Given the description of an element on the screen output the (x, y) to click on. 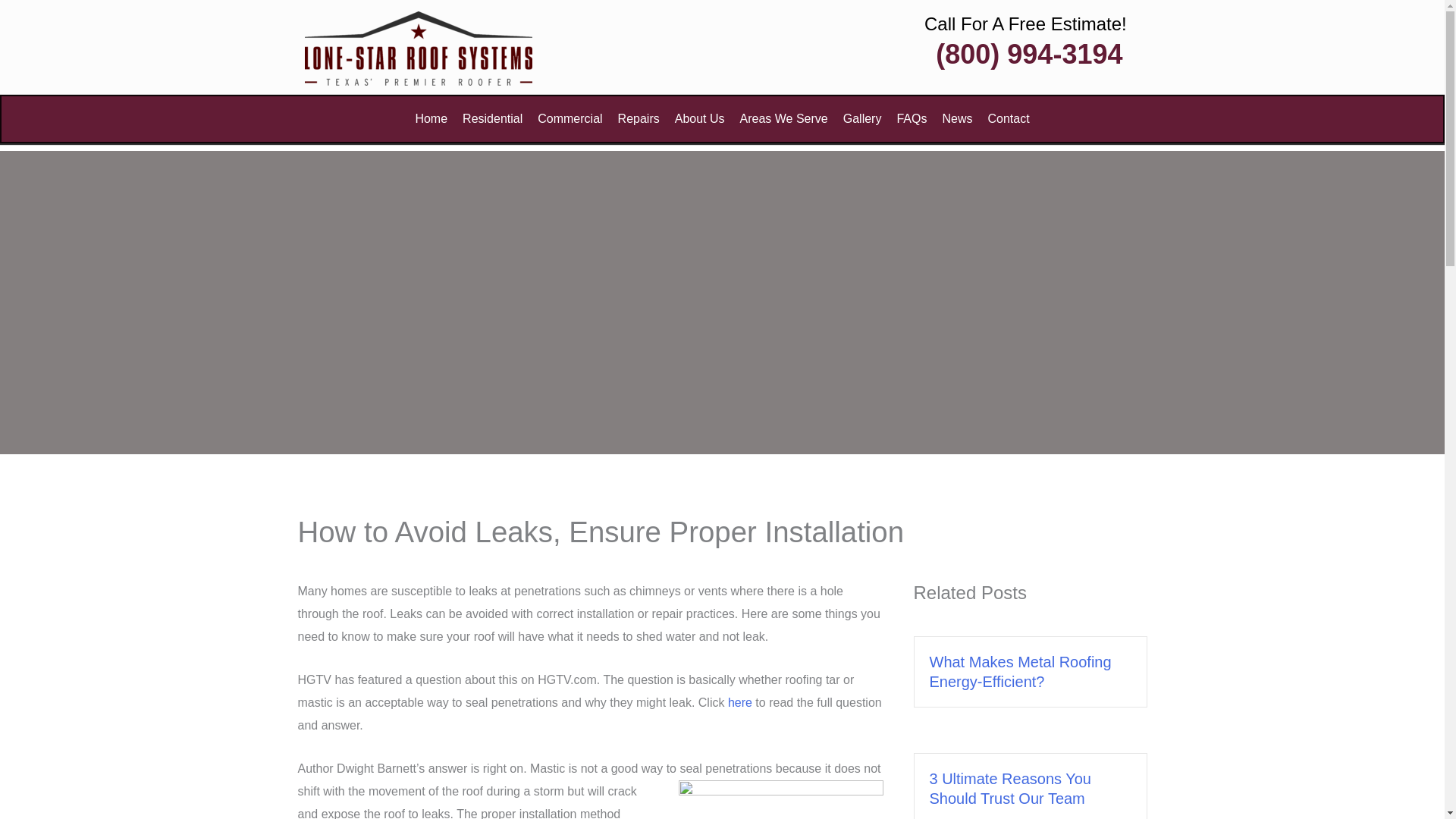
Master LSRS (418, 48)
Repairs (638, 118)
chimney flashing (780, 799)
What Makes Metal Roofing Energy-Efficient? (1021, 671)
About Us (700, 118)
Areas We Serve (783, 118)
Home (430, 118)
Commercial (569, 118)
Residential (491, 118)
3 Ultimate Reasons You Should Trust Our Team (1010, 788)
